Given the description of an element on the screen output the (x, y) to click on. 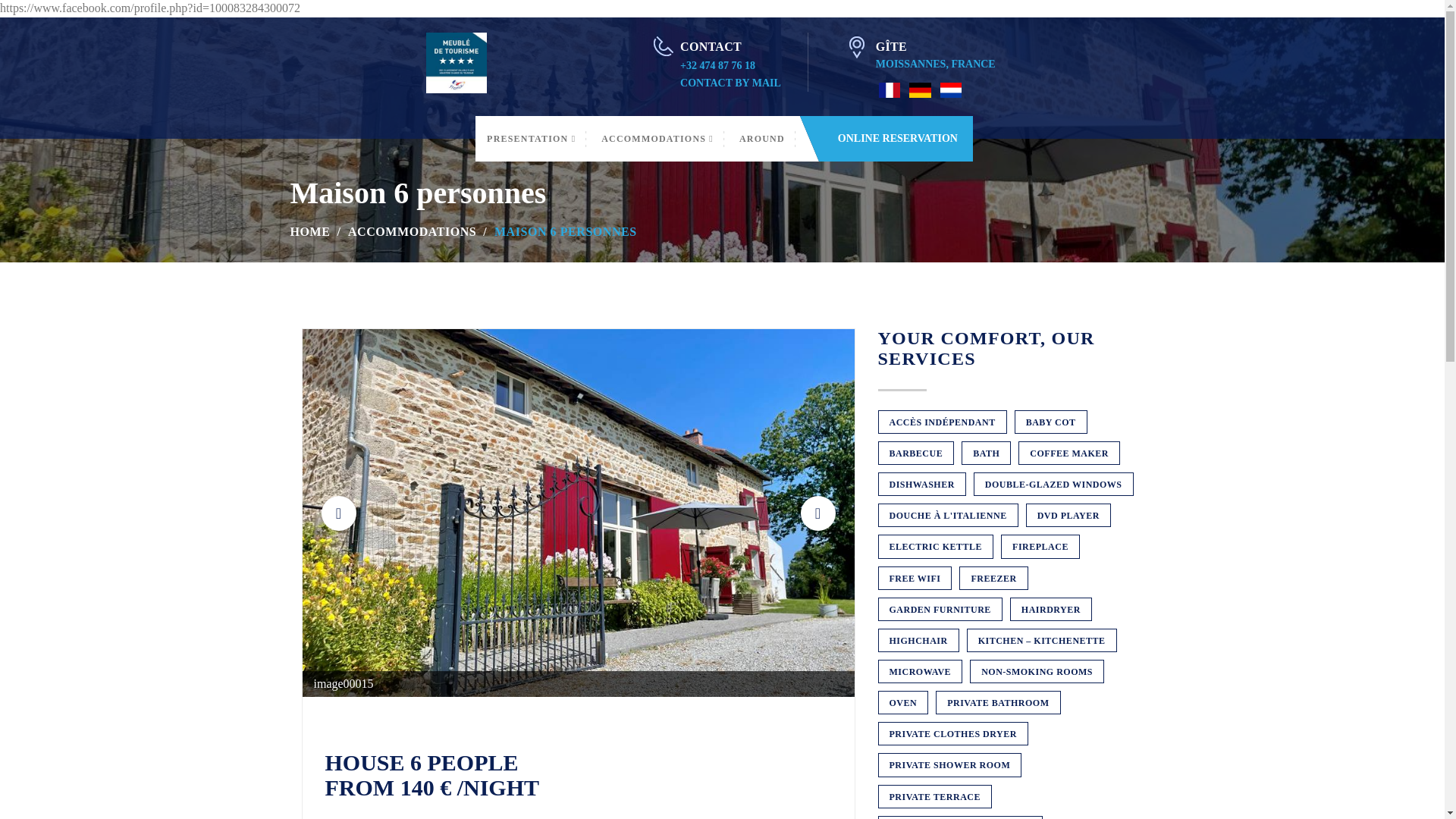
ACCOMMODATIONS (657, 138)
BARBECUE (916, 453)
presentation (531, 138)
Barbecue (916, 453)
HOME (309, 231)
DVD player (1068, 515)
ACCOMMODATIONS (411, 231)
Accommodations (657, 138)
Bath (985, 453)
Garden furniture (940, 608)
